Given the description of an element on the screen output the (x, y) to click on. 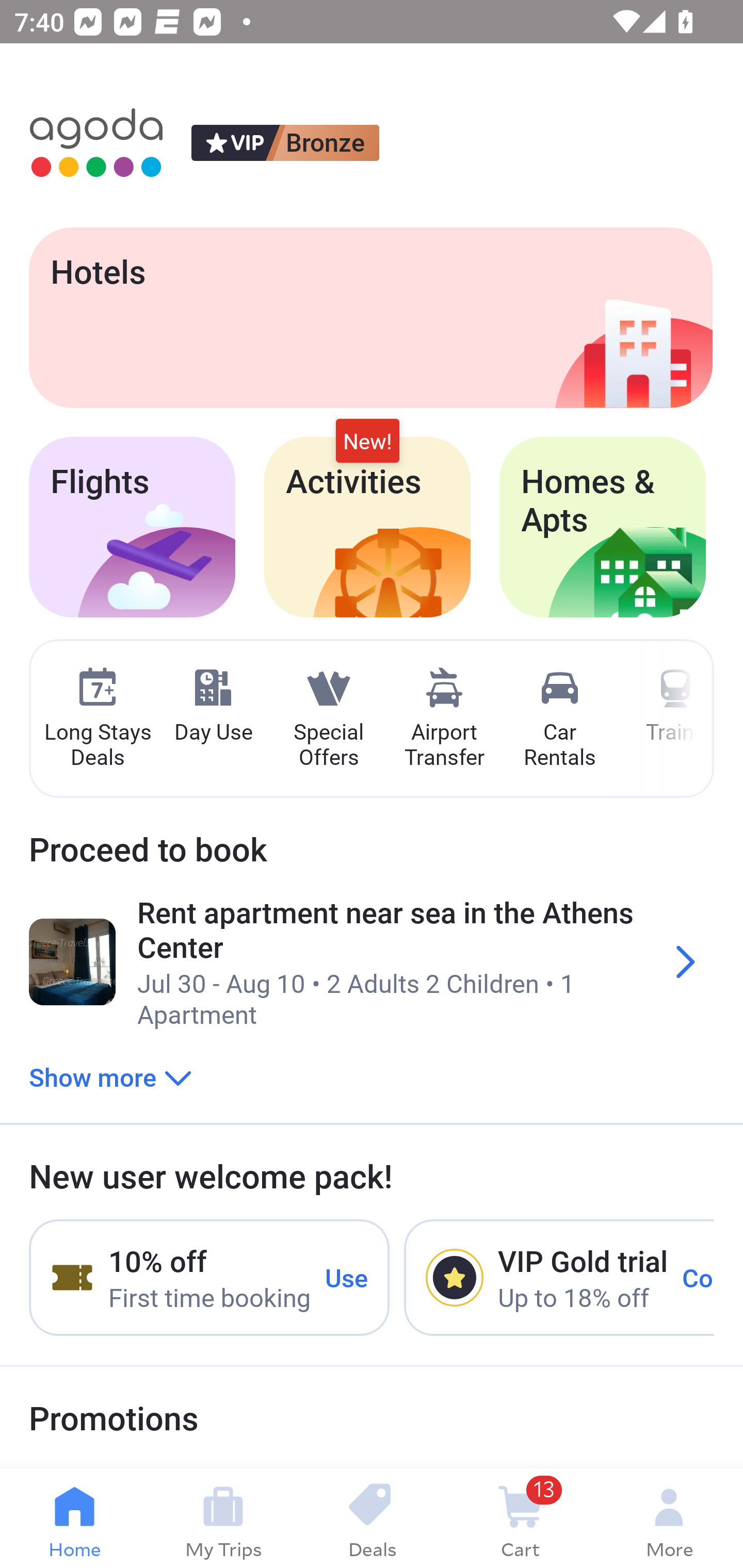
Hotels (370, 317)
New! (367, 441)
Flights (131, 527)
Activities (367, 527)
Homes & Apts (602, 527)
Day Use (213, 706)
Long Stays Deals (97, 718)
Special Offers (328, 718)
Airport Transfer (444, 718)
Car Rentals (559, 718)
Show more (110, 1076)
Use (346, 1277)
Home (74, 1518)
My Trips (222, 1518)
Deals (371, 1518)
13 Cart (519, 1518)
More (668, 1518)
